Given the description of an element on the screen output the (x, y) to click on. 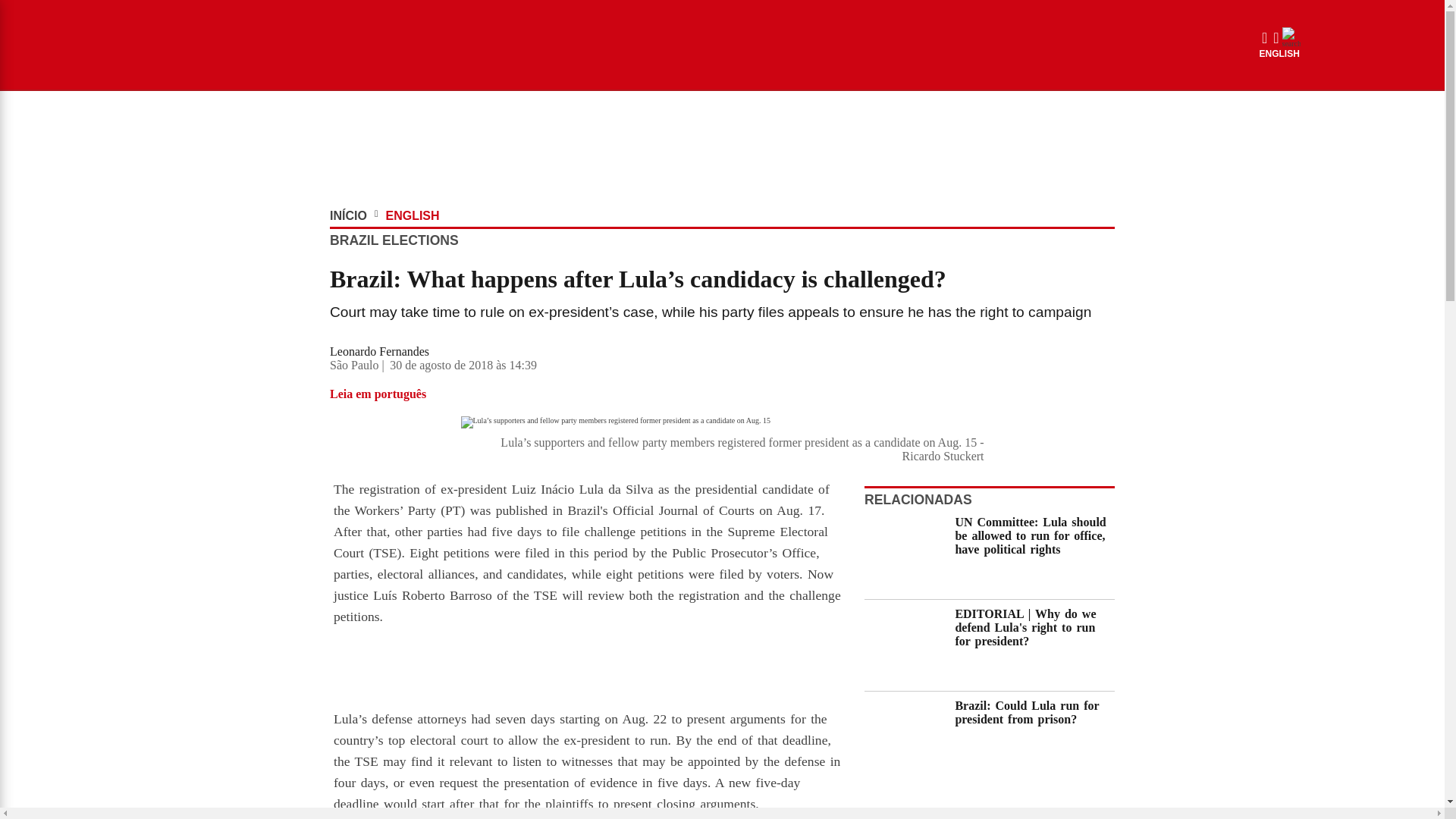
ENGLISH (412, 215)
ENGLISH (1279, 53)
Brazil: Could Lula run for president from prison? (1032, 736)
